Given the description of an element on the screen output the (x, y) to click on. 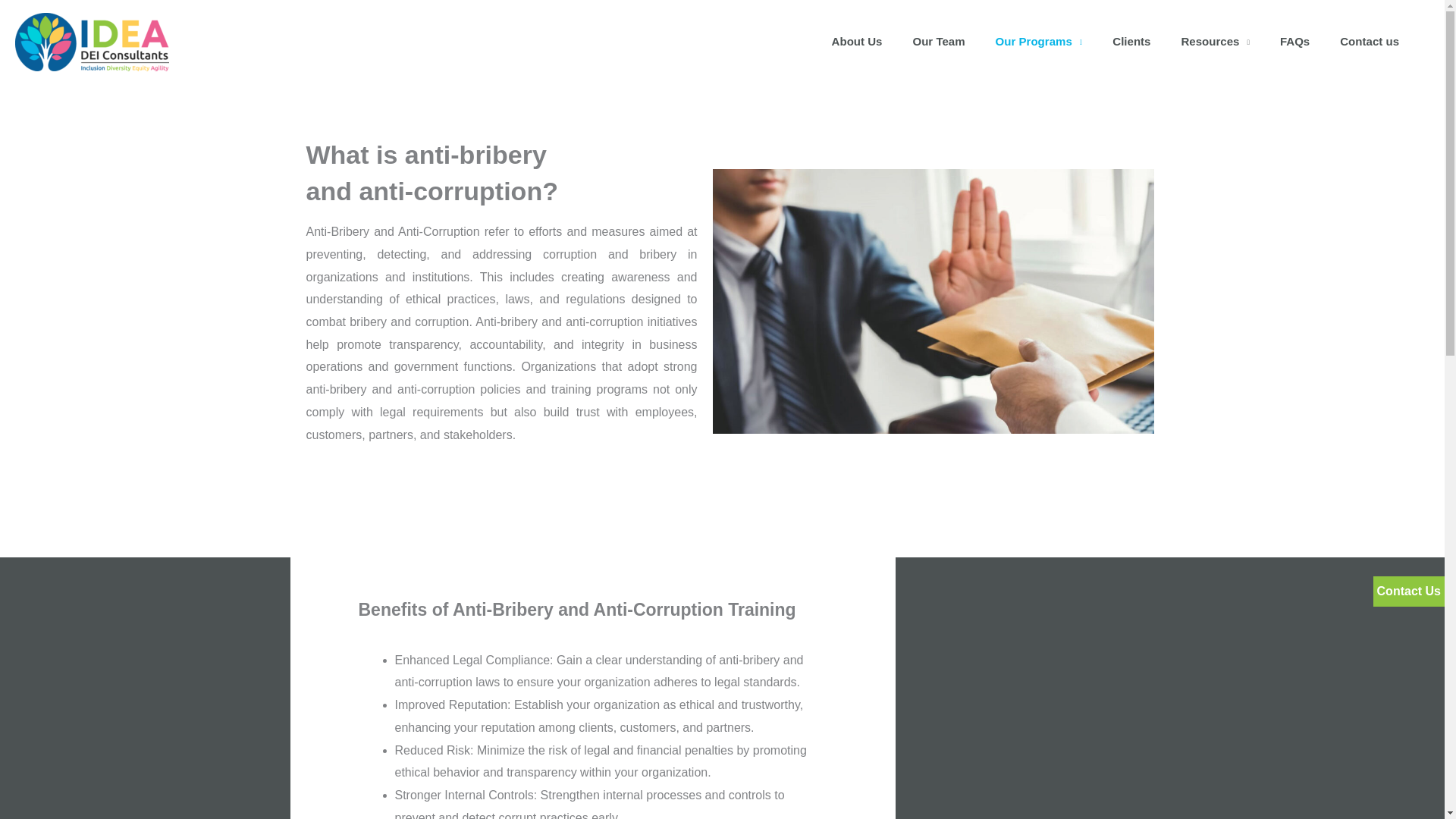
Contact us (1368, 41)
About Us (857, 41)
Resources (1214, 41)
Our Programs (1038, 41)
Our Team (937, 41)
Contact Us (1409, 590)
